Given the description of an element on the screen output the (x, y) to click on. 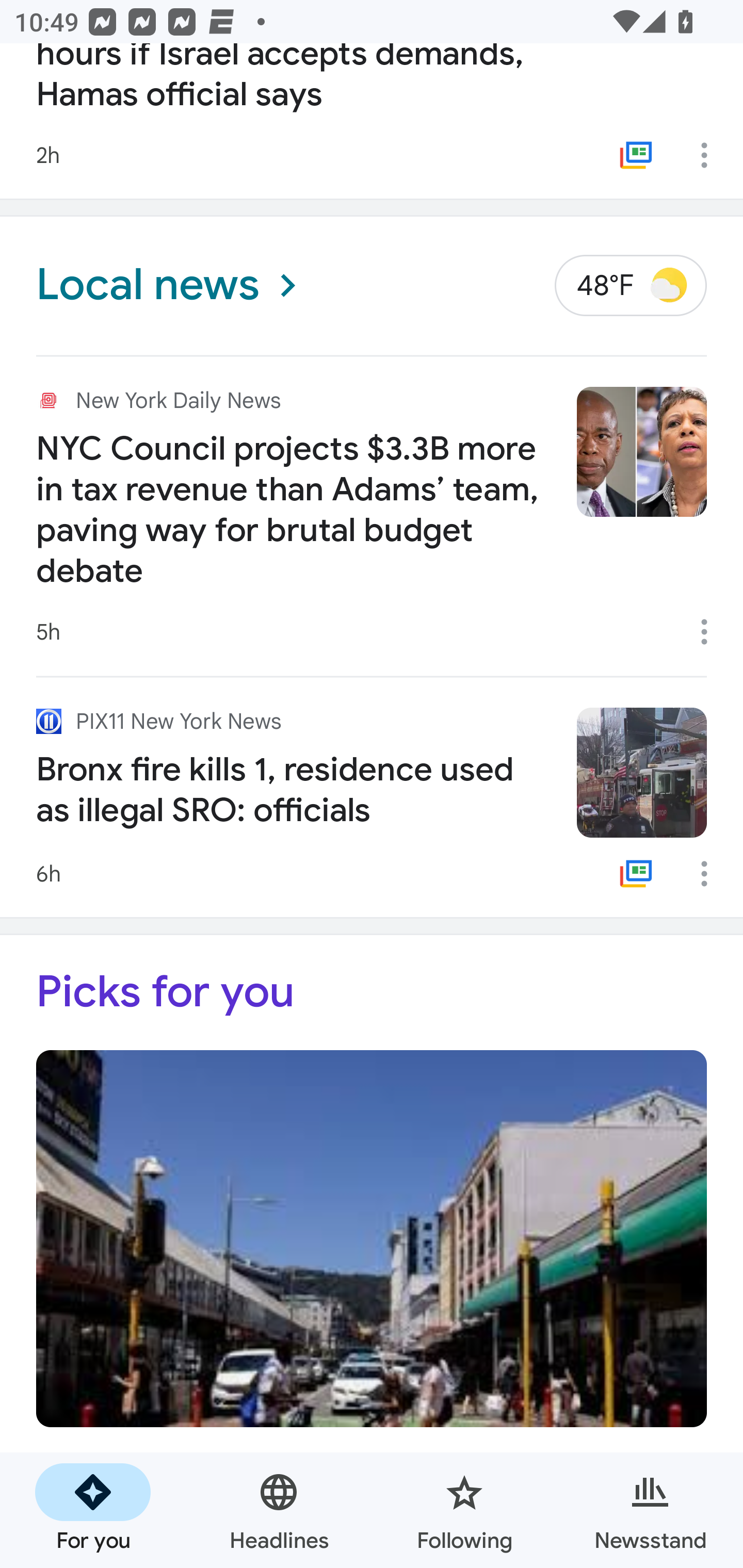
More options (711, 155)
More options (711, 631)
More options (711, 874)
For you (92, 1509)
Headlines (278, 1509)
Following (464, 1509)
Newsstand (650, 1509)
